Given the description of an element on the screen output the (x, y) to click on. 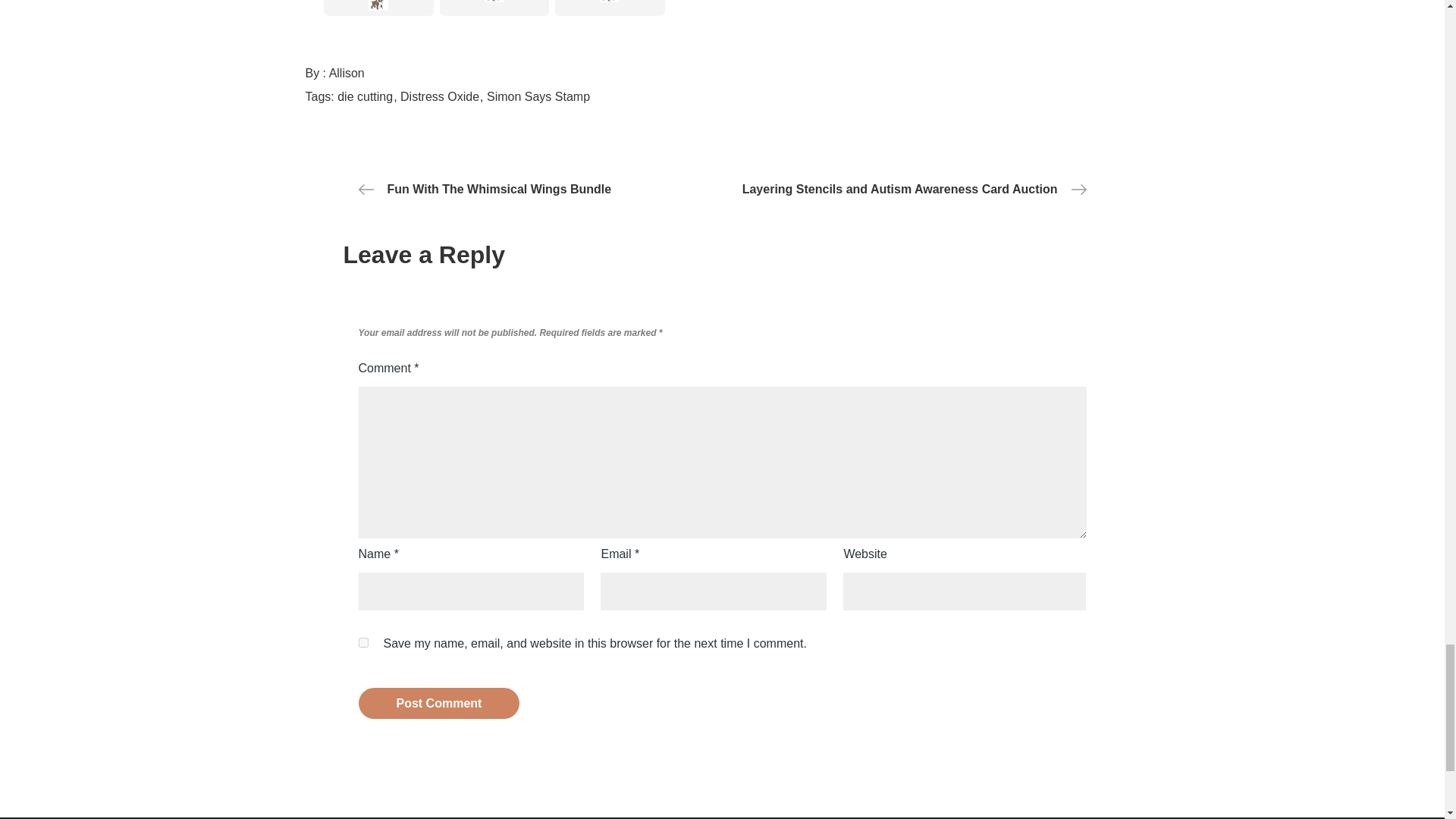
die cutting (366, 96)
Allison (347, 72)
Distress Oxide (441, 96)
yes (363, 642)
Post Comment (438, 703)
